Given the description of an element on the screen output the (x, y) to click on. 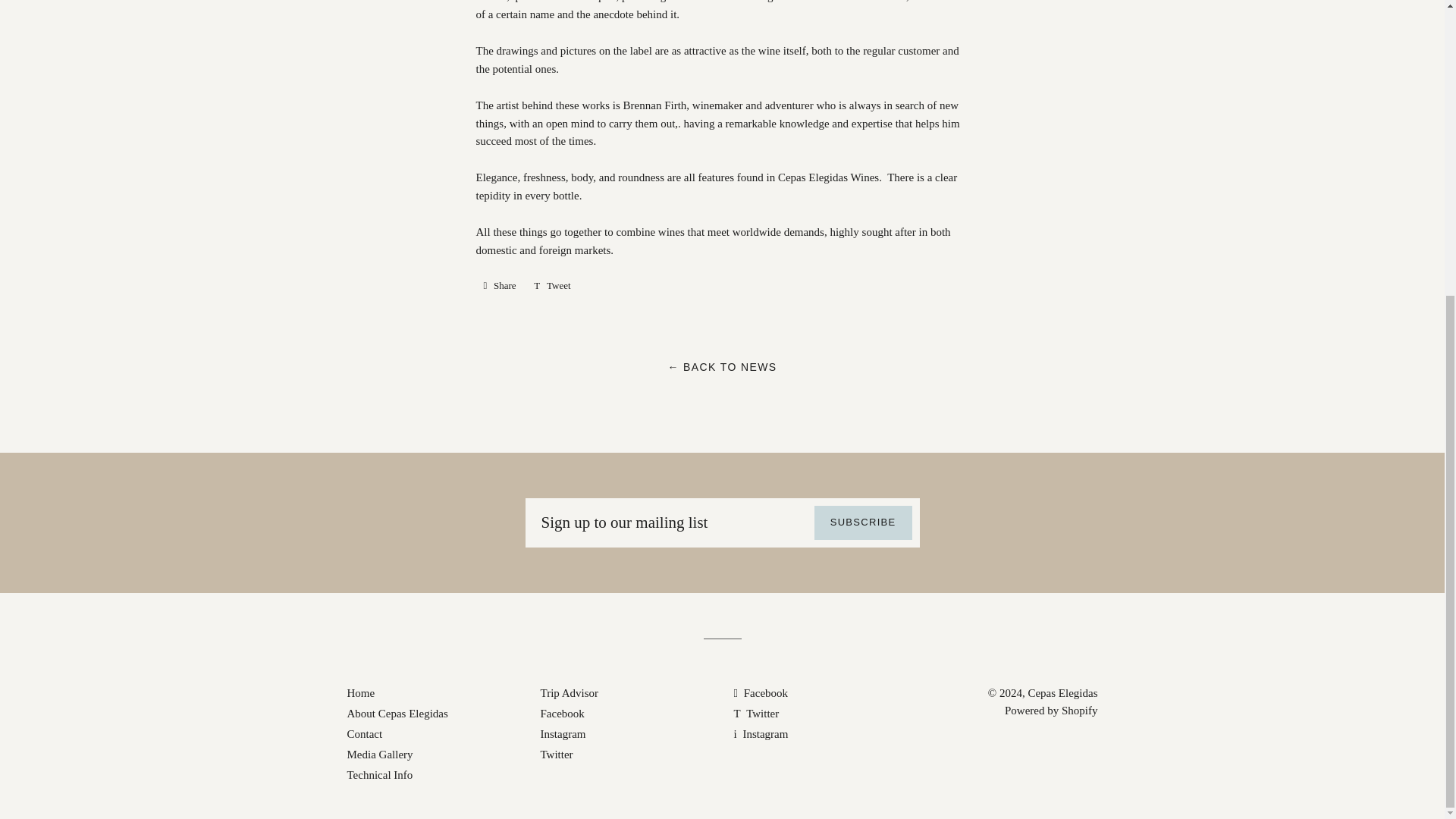
Cepas Elegidas on Instagram (761, 734)
Cepas Elegidas on Twitter (755, 713)
Cepas Elegidas on Facebook (761, 693)
